Given the description of an element on the screen output the (x, y) to click on. 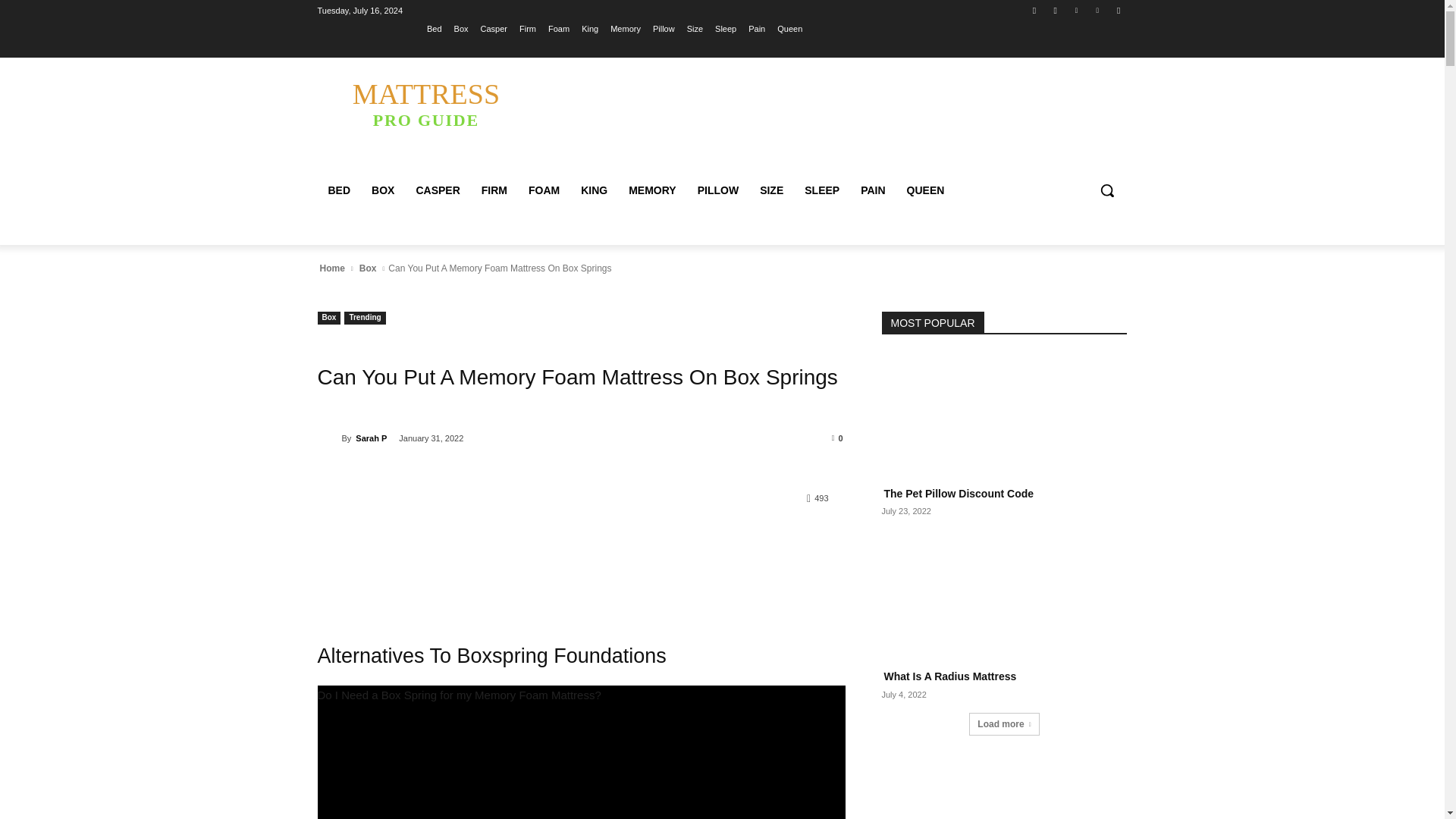
Facebook (1034, 9)
Memory (625, 28)
Queen (789, 28)
Sleep (725, 28)
Casper (493, 28)
Foam (558, 28)
Youtube (1117, 9)
Twitter (1075, 9)
Instagram (1055, 9)
Sarah P (328, 437)
Vimeo (1097, 9)
Pillow (663, 28)
View all posts in Box (367, 268)
